Given the description of an element on the screen output the (x, y) to click on. 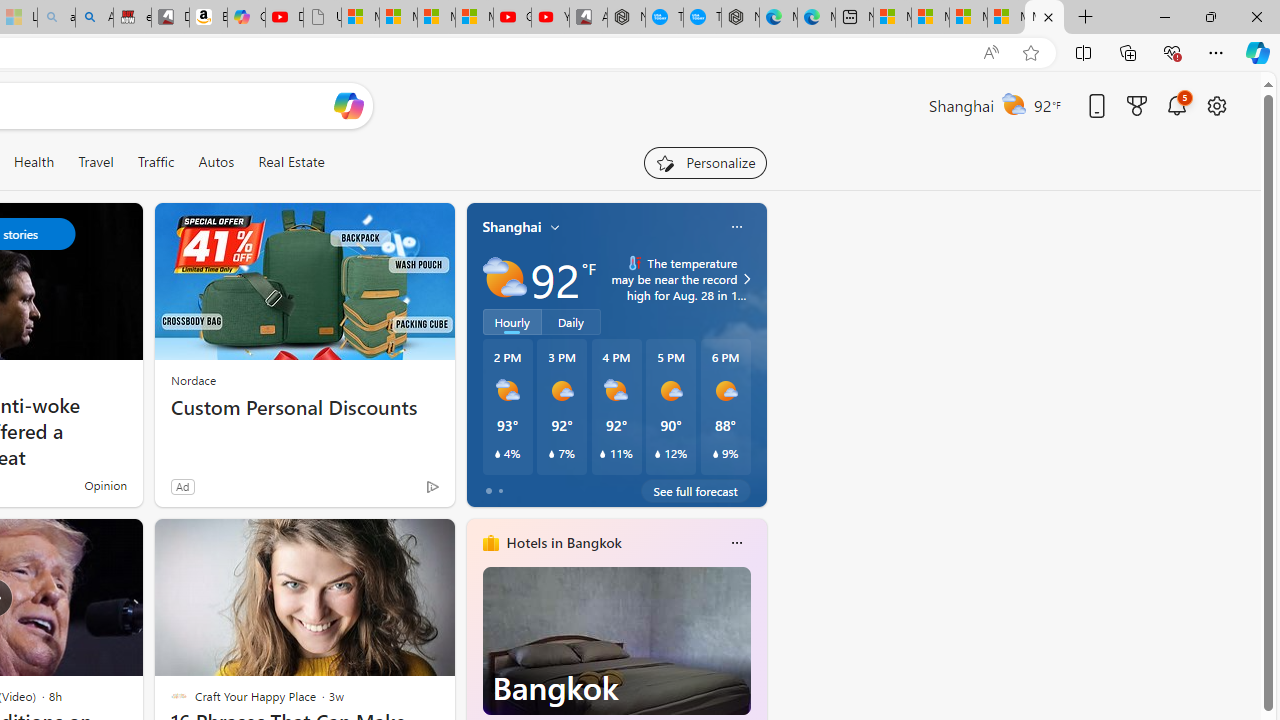
next (756, 670)
Shanghai (511, 227)
Custom Personal Discounts (304, 407)
Ad Choice (432, 485)
Untitled (321, 17)
Class: weather-arrow-glyph (746, 278)
Open Copilot (347, 105)
Microsoft account | Microsoft Account Privacy Settings (929, 17)
